Given the description of an element on the screen output the (x, y) to click on. 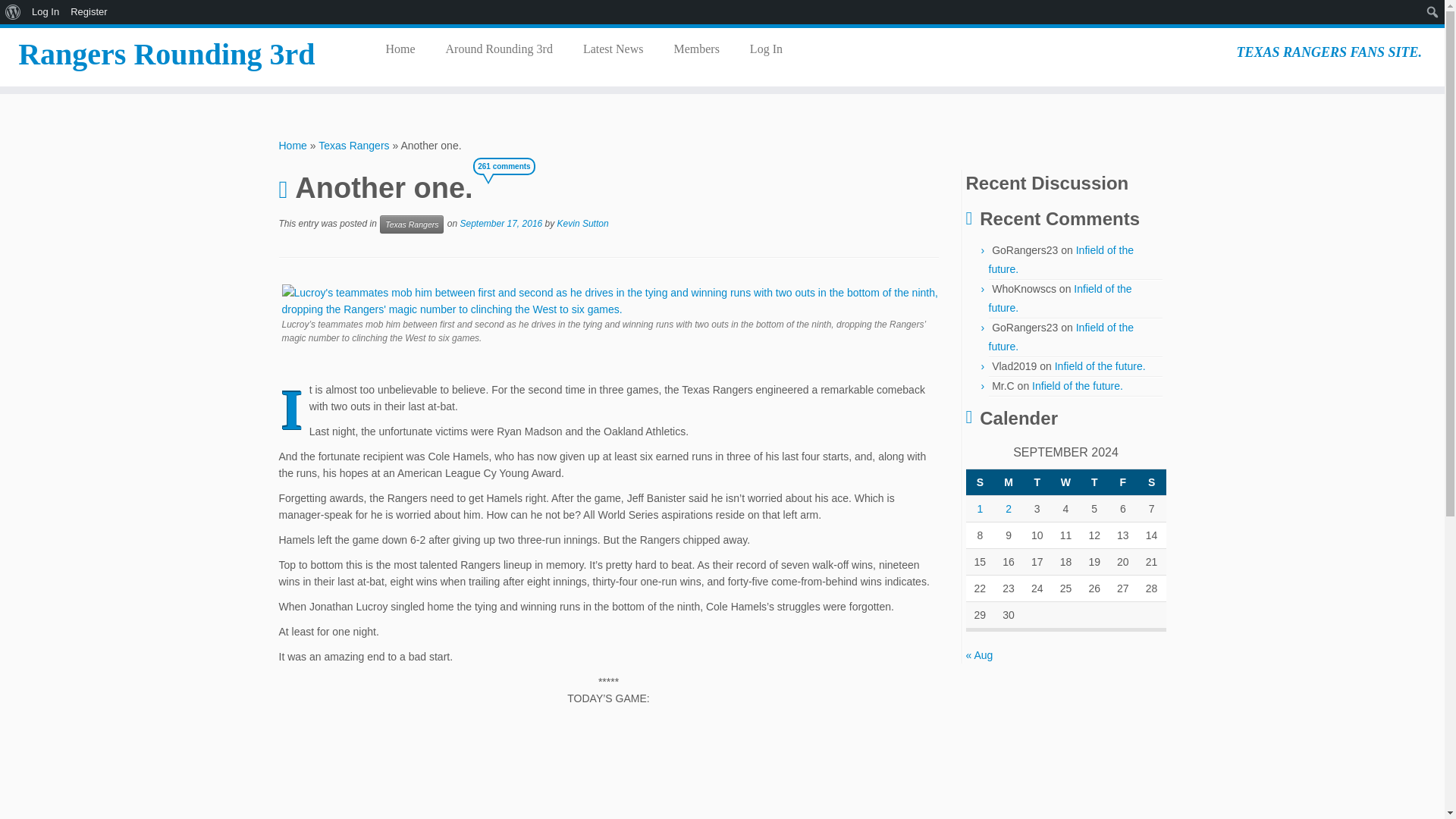
Infield of the future. (1061, 259)
Infield of the future. (1077, 386)
Texas Rangers (353, 145)
Members (695, 48)
View all posts by Kevin Sutton (582, 223)
September 17, 2016 (500, 223)
Home (293, 145)
Home Page (405, 48)
261 comments (510, 180)
Infield of the future. (1060, 297)
